Given the description of an element on the screen output the (x, y) to click on. 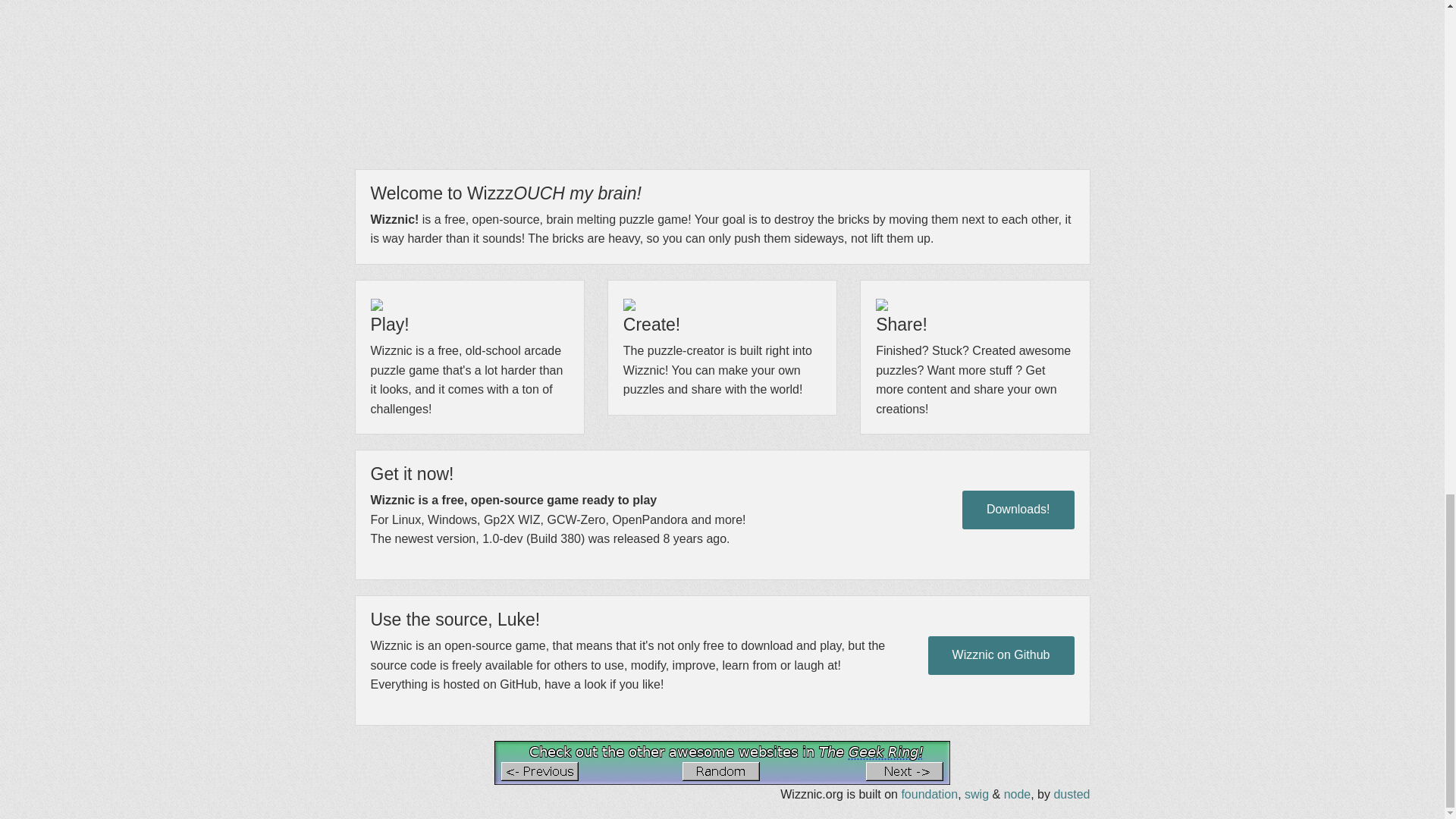
swig (975, 793)
foundation (929, 793)
dusted (1070, 793)
node (1017, 793)
Downloads! (1018, 509)
Wizznic on Github (1001, 655)
